Given the description of an element on the screen output the (x, y) to click on. 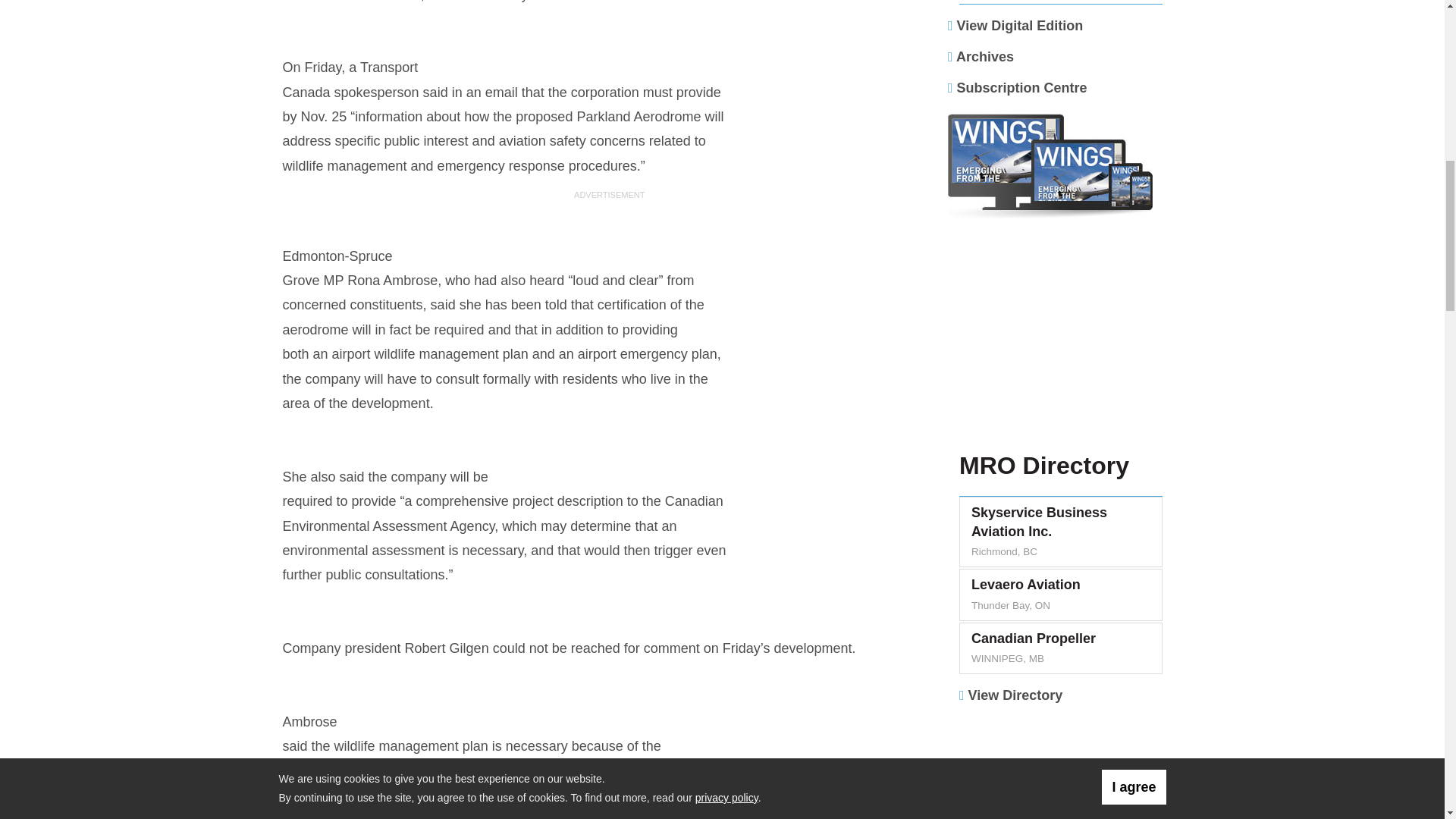
3rd party ad content (1060, 768)
3rd party ad content (1060, 341)
